Given the description of an element on the screen output the (x, y) to click on. 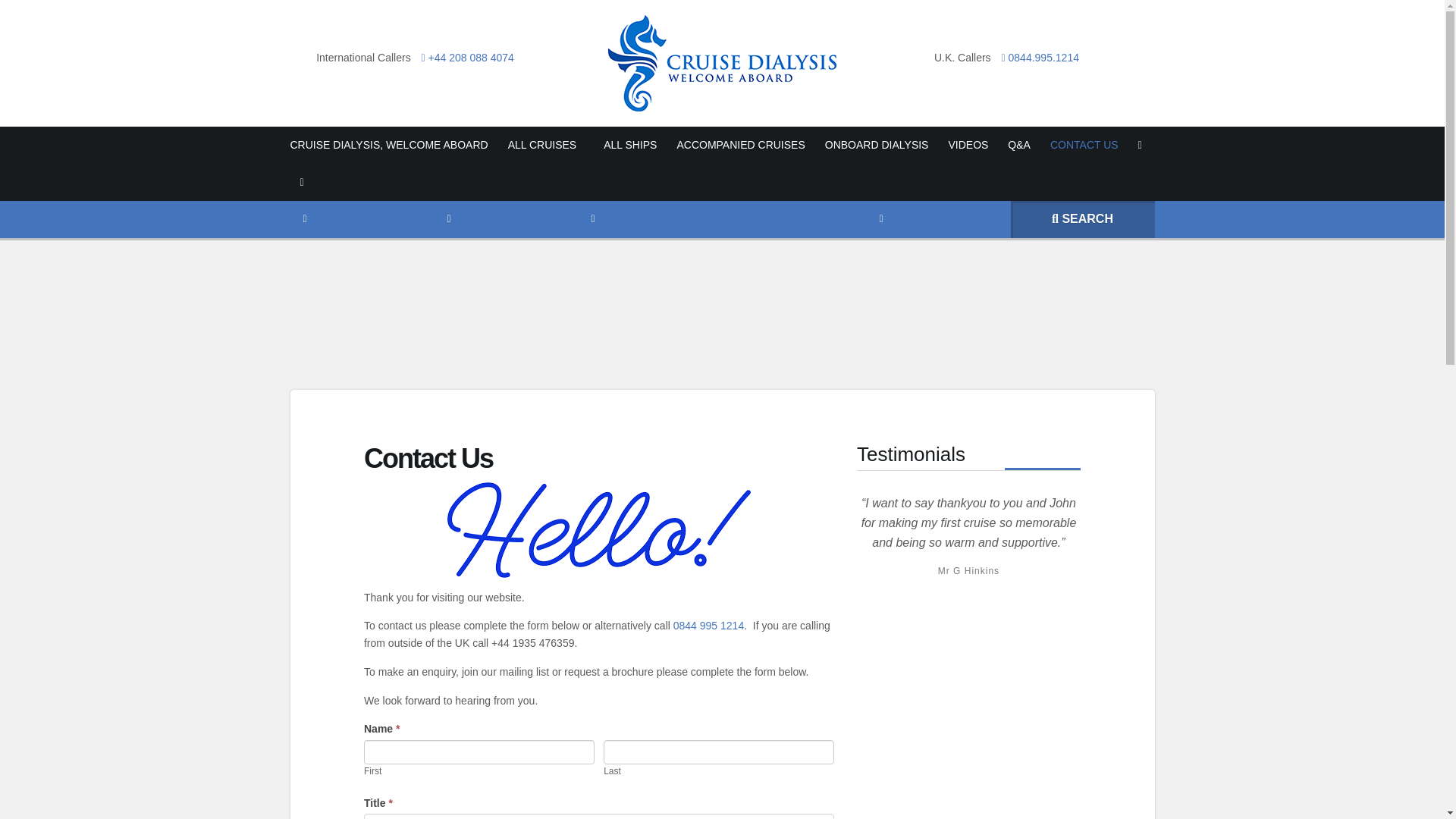
0844 995 1214 (708, 625)
CONTACT US (1084, 144)
ALL CRUISES (545, 144)
ONBOARD DIALYSIS (877, 144)
VIDEOS (967, 144)
CRUISE DIALYSIS, WELCOME ABOARD (393, 144)
SEARCH (1082, 218)
0844.995.1214 (1036, 57)
ACCOMPANIED CRUISES (739, 144)
ALL SHIPS (630, 144)
